Given the description of an element on the screen output the (x, y) to click on. 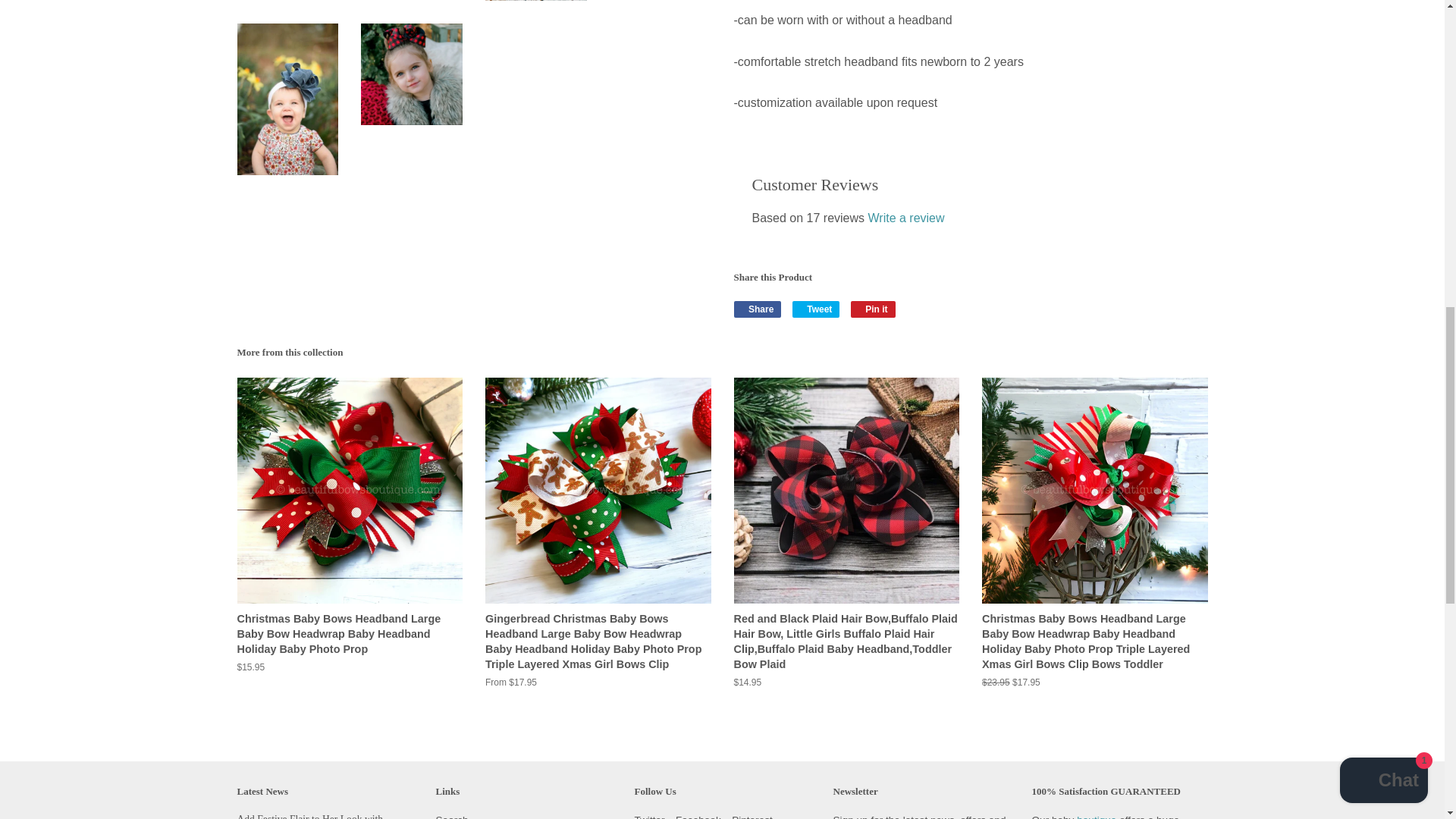
Beautiful Bows Boutique on Twitter (648, 816)
Tweet on Twitter (816, 309)
Pin on Pinterest (872, 309)
Beautiful Bows Boutique on Facebook (697, 816)
New Arrivals (1098, 816)
Beautiful Bows Boutique on Pinterest (752, 816)
Share on Facebook (757, 309)
